Given the description of an element on the screen output the (x, y) to click on. 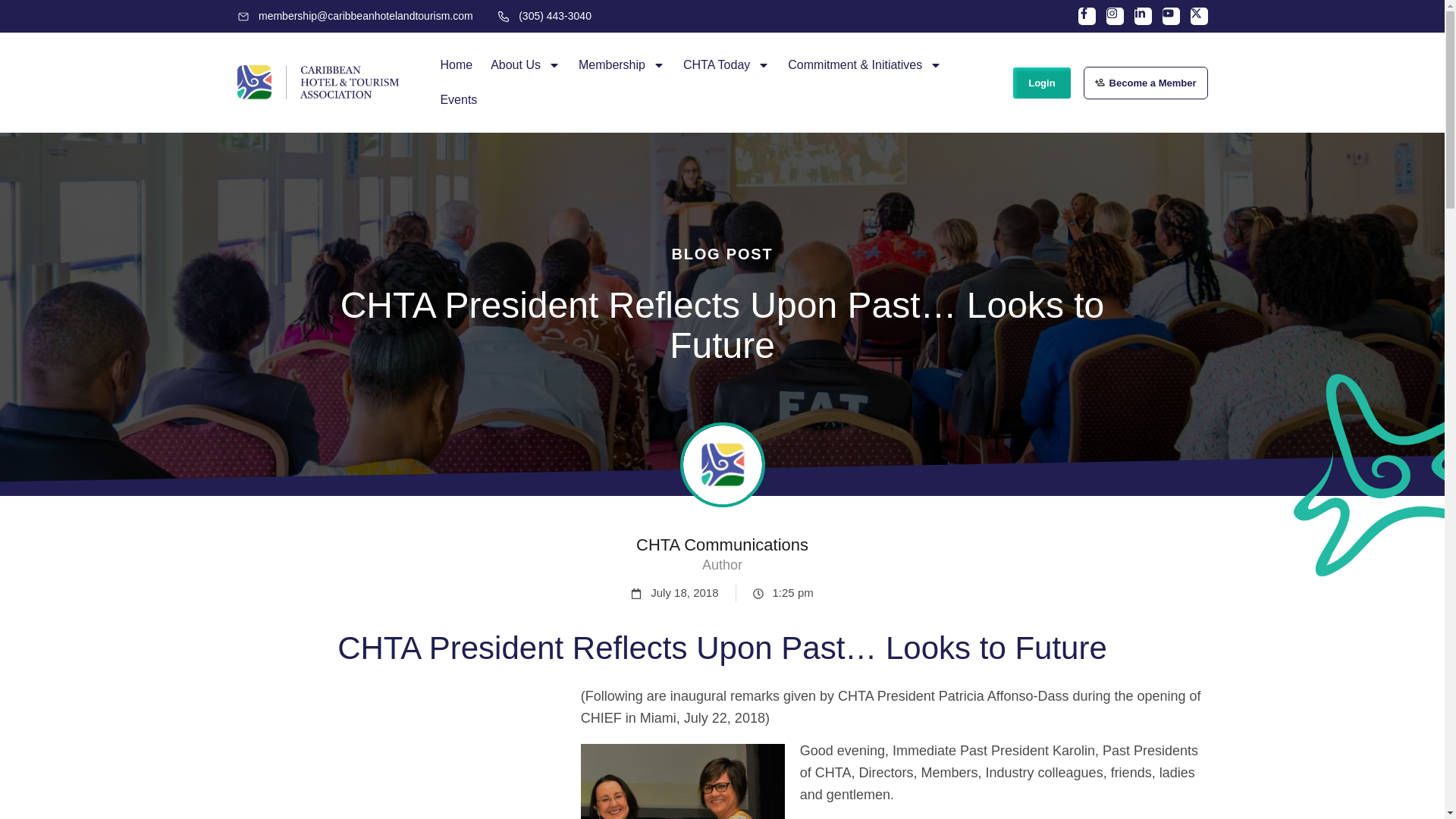
About Us (525, 64)
Membership (621, 64)
Home (455, 64)
Events (458, 99)
CHTA Today (726, 64)
